Given the description of an element on the screen output the (x, y) to click on. 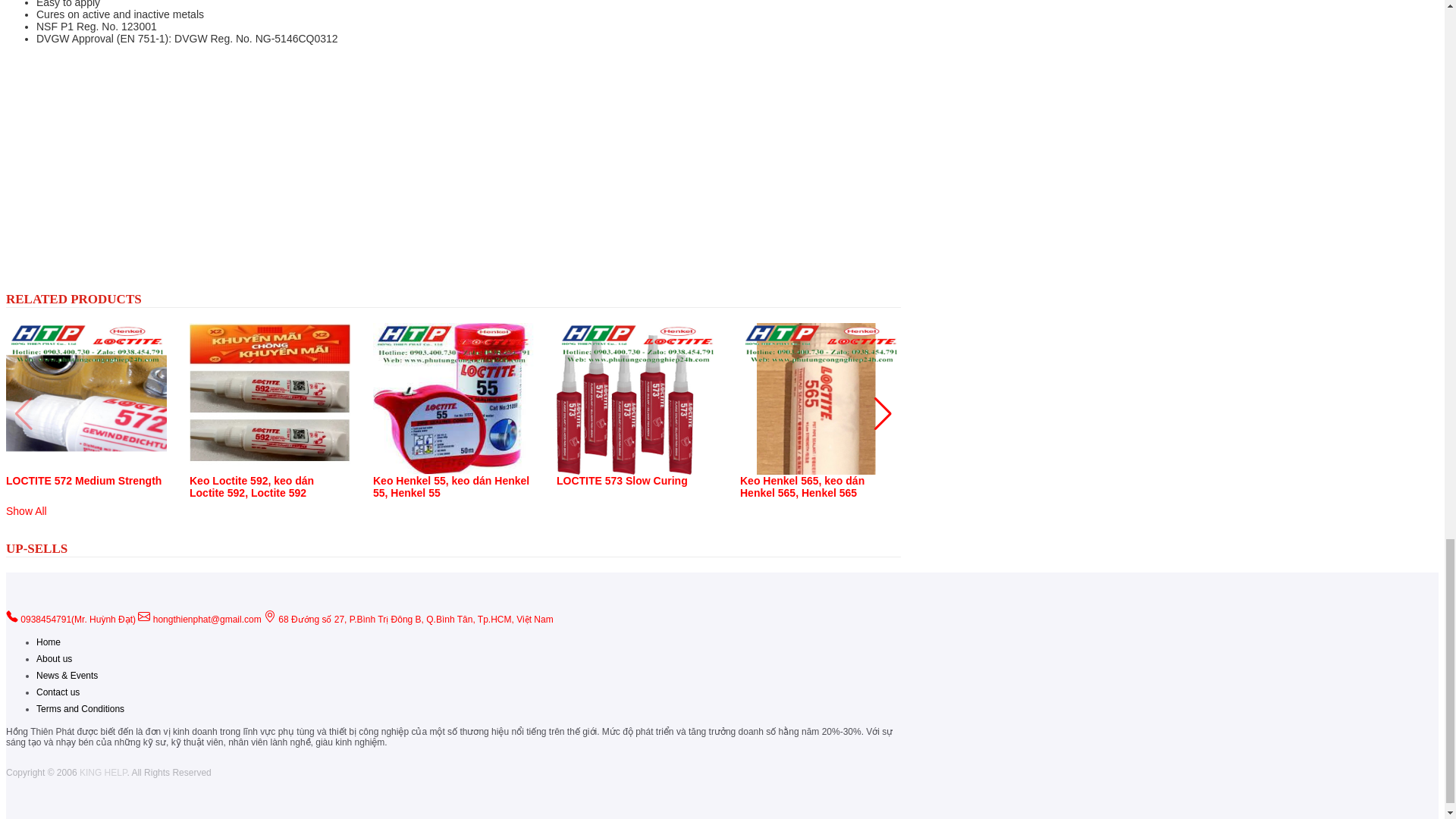
RELATED PRODUCTS (73, 299)
LOCTITE 572 Medium Strength (83, 480)
LOCTITE 573 Slow Curing (621, 480)
